Given the description of an element on the screen output the (x, y) to click on. 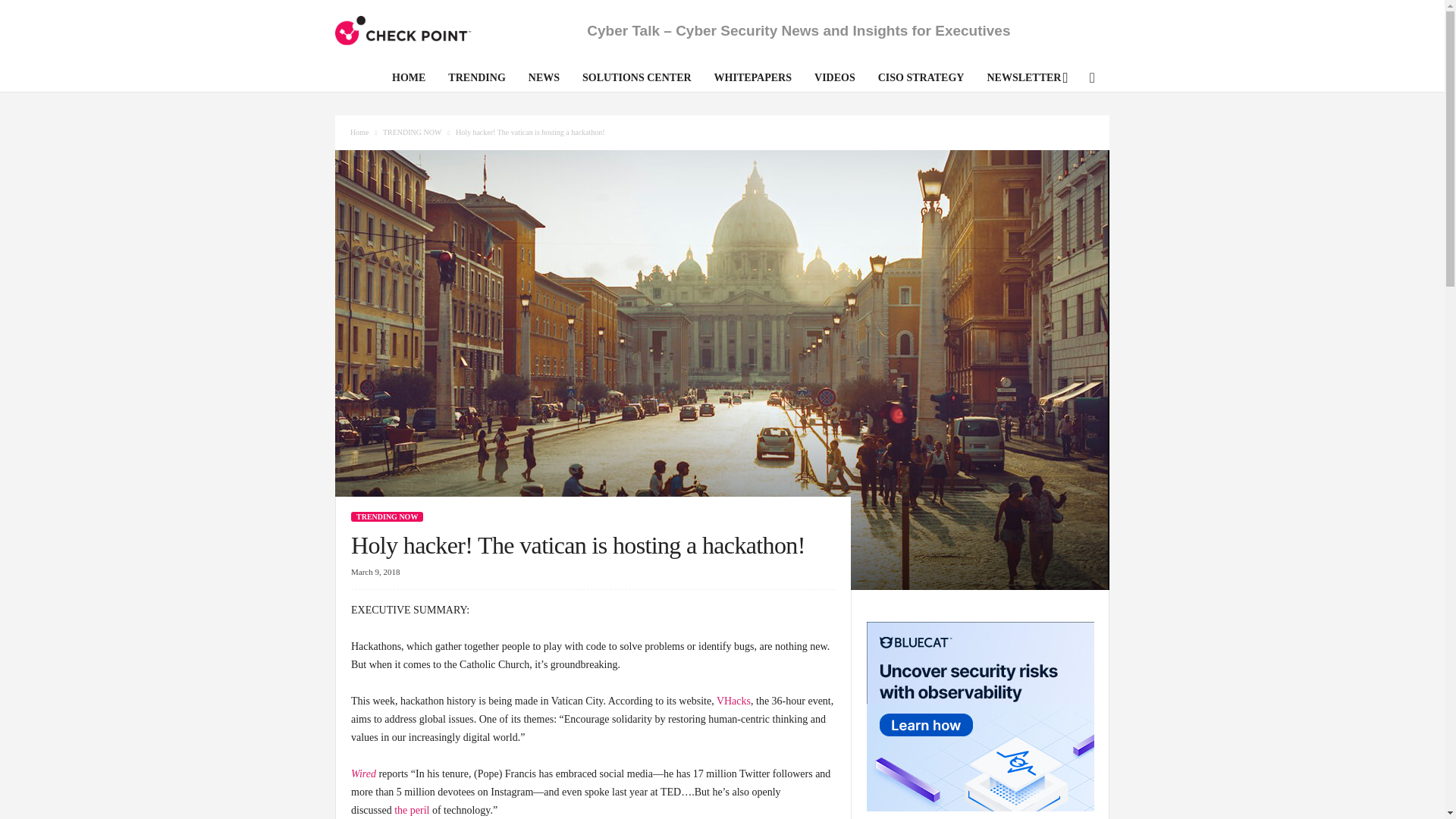
TRENDING NOW (386, 516)
SOLUTIONS CENTER (636, 79)
RSS (1090, 79)
HOME (408, 79)
WHITEPAPERS (753, 79)
CISO STRATEGY (920, 79)
View all posts in TRENDING NOW (412, 131)
NEWSLETTER (1023, 79)
NEWS (543, 79)
CyberTalk.org (402, 30)
Home (359, 131)
VIDEOS (834, 79)
TRENDING (476, 79)
TRENDING NOW (412, 131)
